Given the description of an element on the screen output the (x, y) to click on. 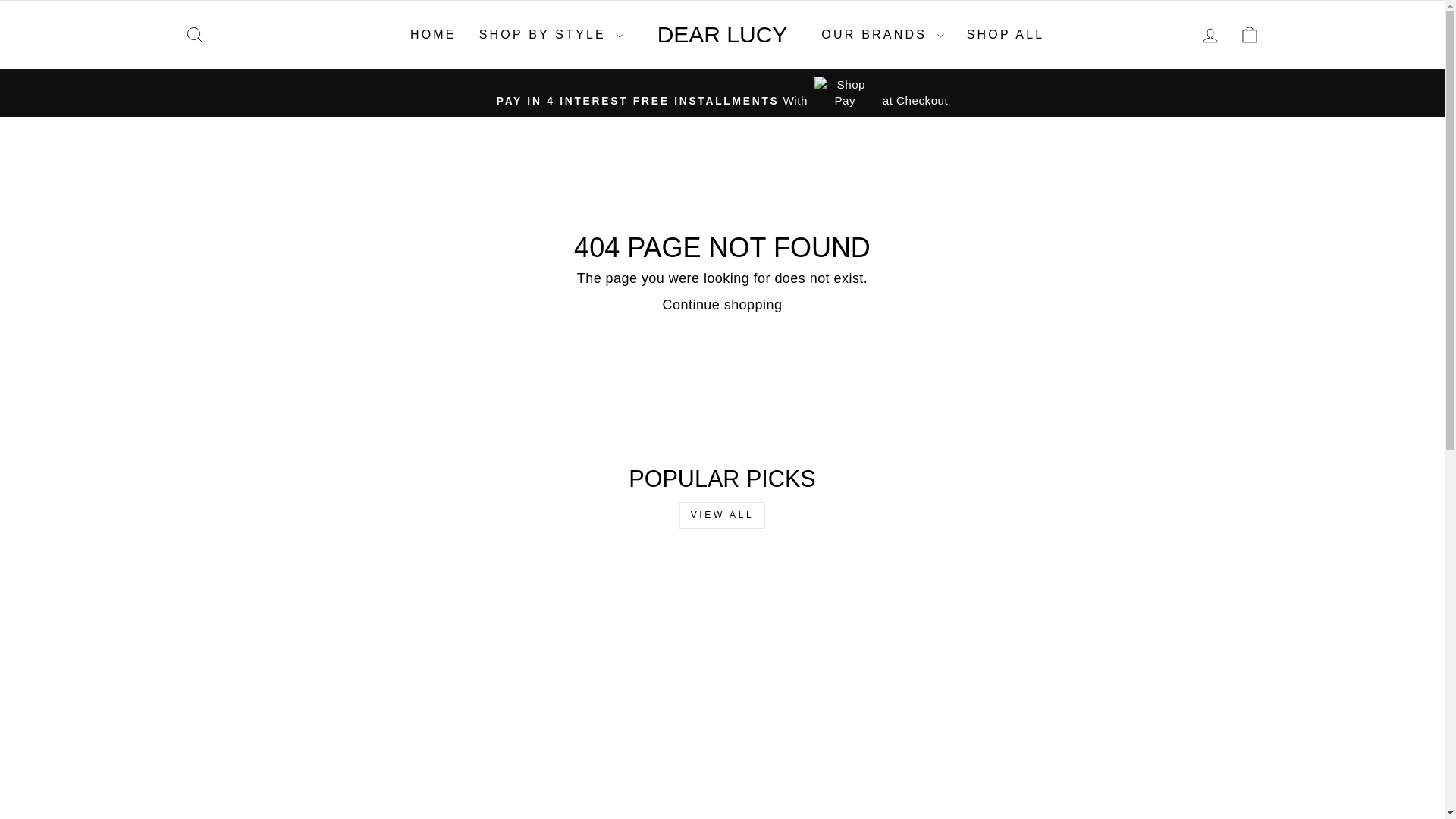
ACCOUNT (1210, 35)
ICON-SEARCH (194, 34)
ICON-BAG-MINIMAL (1249, 34)
